Given the description of an element on the screen output the (x, y) to click on. 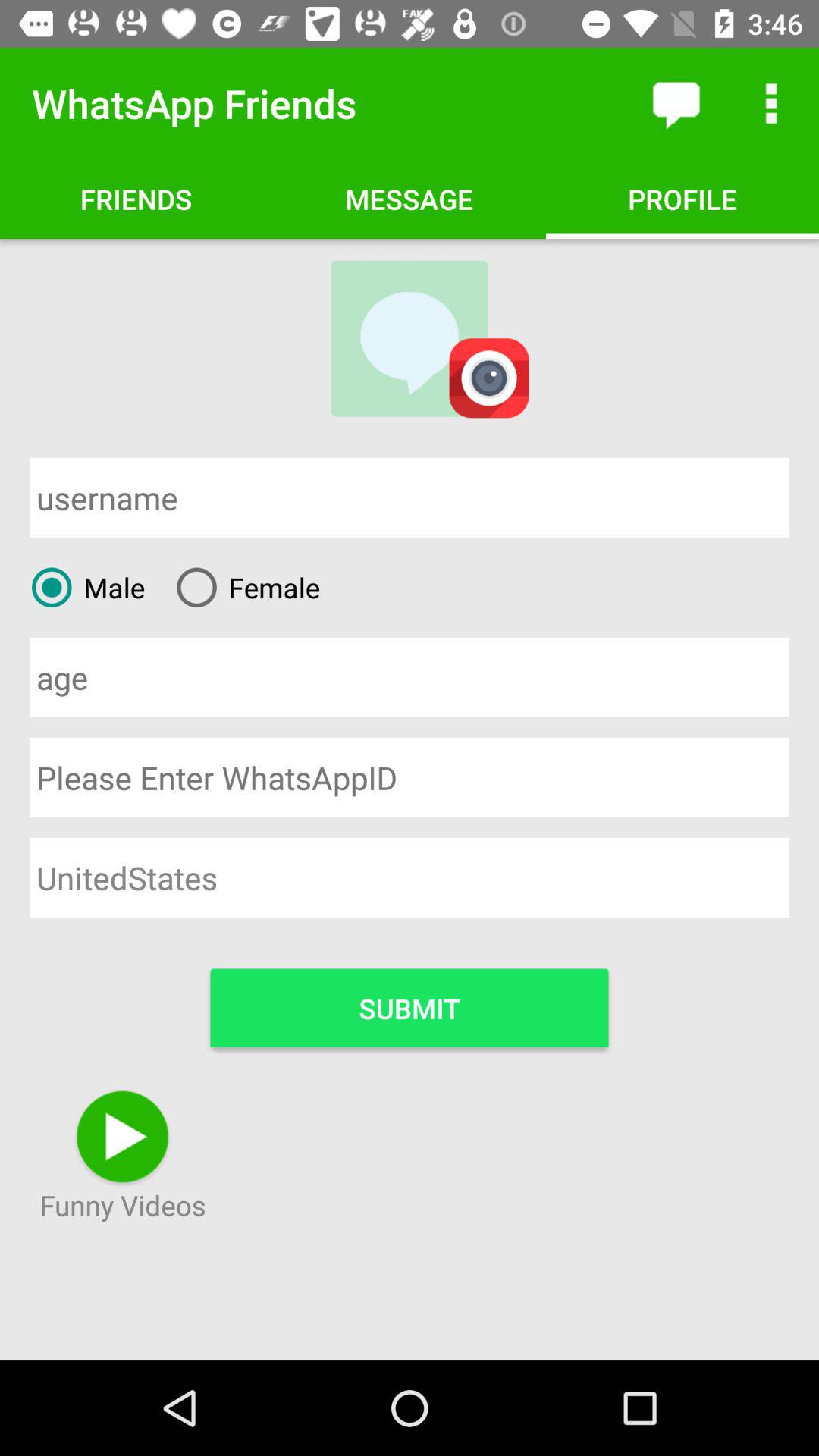
flip until the submit item (409, 1007)
